Given the description of an element on the screen output the (x, y) to click on. 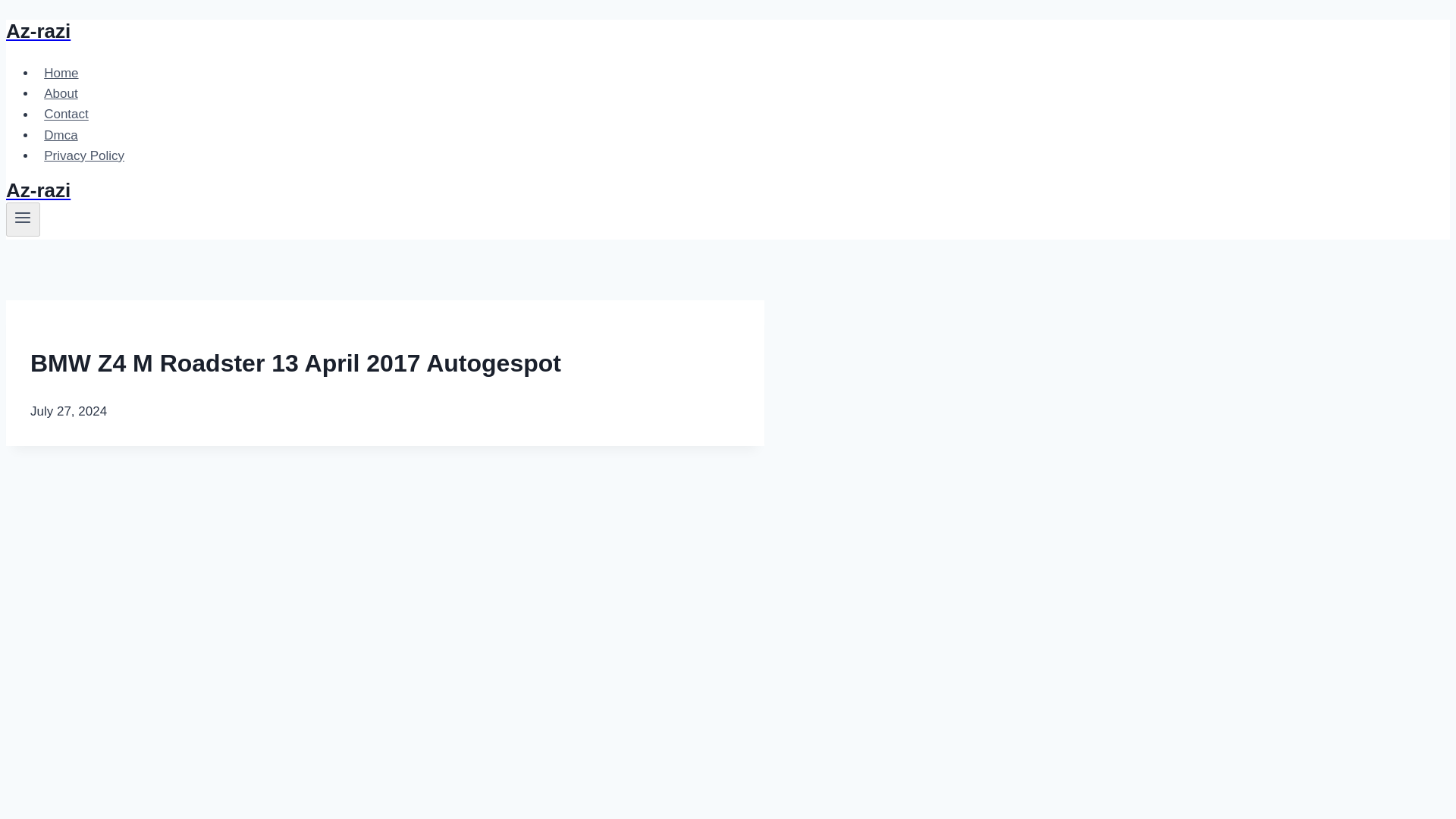
Az-razi (384, 190)
Home (60, 72)
Az-razi (384, 31)
Toggle Menu (22, 217)
About (60, 93)
Dmca (60, 134)
Contact (66, 113)
Privacy Policy (84, 155)
Toggle Menu (22, 218)
